Given the description of an element on the screen output the (x, y) to click on. 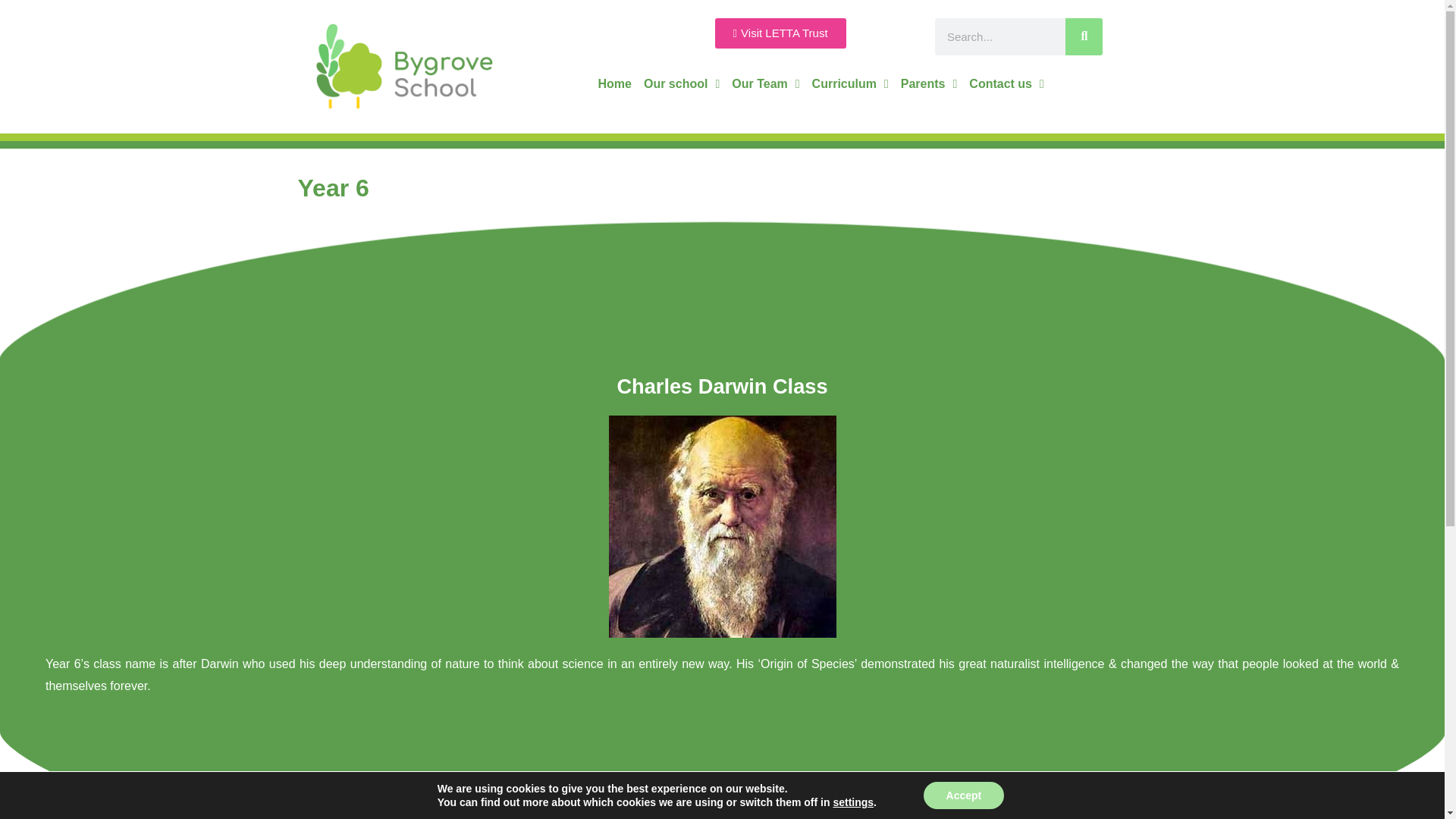
Visit LETTA Trust (779, 33)
Our school (681, 83)
Our Team (765, 83)
Curriculum (850, 83)
Search (1083, 36)
Home (614, 83)
